Given the description of an element on the screen output the (x, y) to click on. 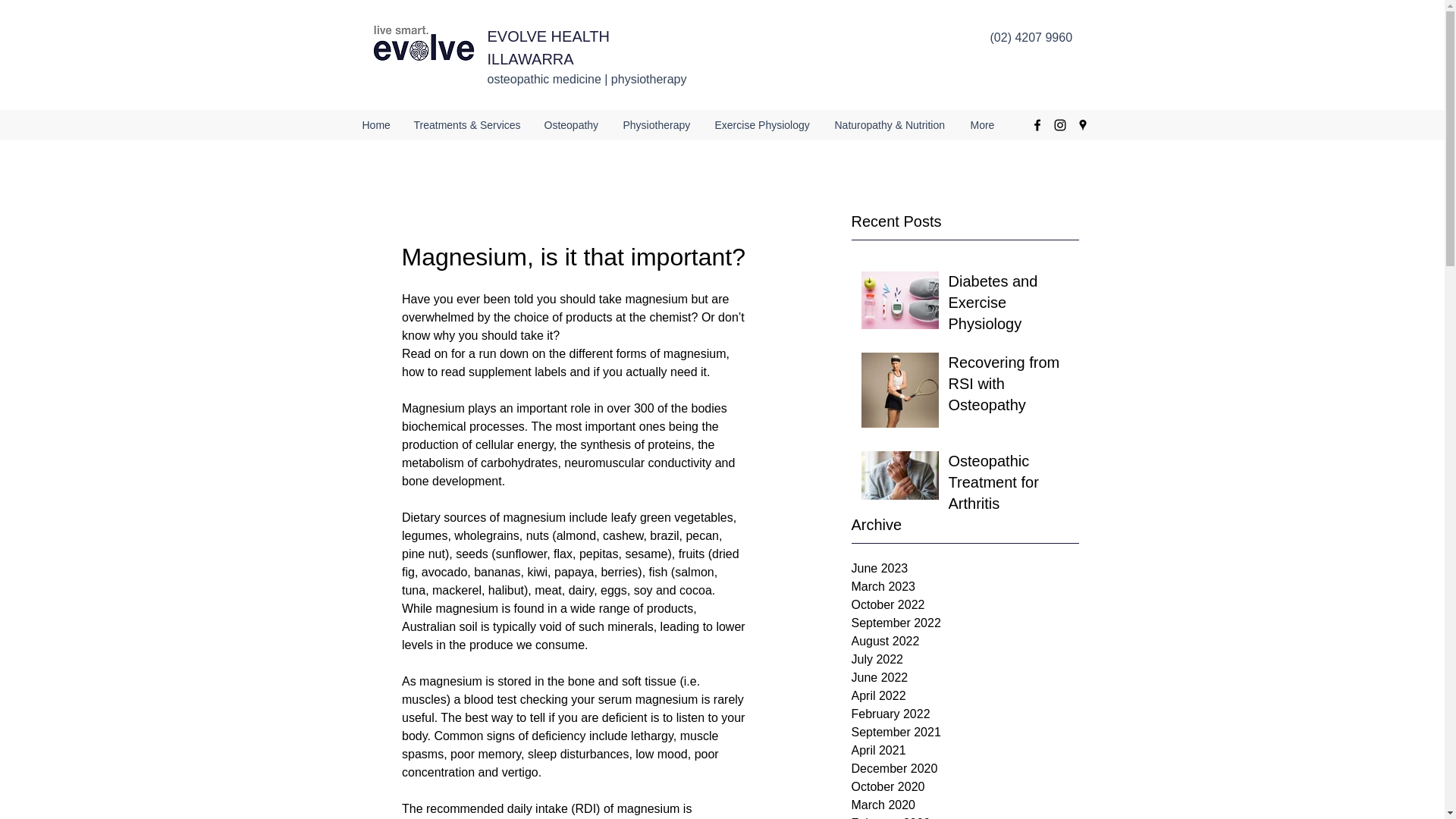
February 2022 (964, 714)
Home (375, 124)
September 2022 (964, 623)
March 2020 (964, 805)
August 2022 (964, 641)
Physiotherapy (657, 124)
July 2022 (964, 659)
April 2022 (964, 696)
June 2023 (964, 568)
September 2021 (964, 732)
March 2023 (964, 587)
October 2020 (964, 787)
October 2022 (964, 605)
Exercise Physiology (763, 124)
June 2022 (964, 678)
